Given the description of an element on the screen output the (x, y) to click on. 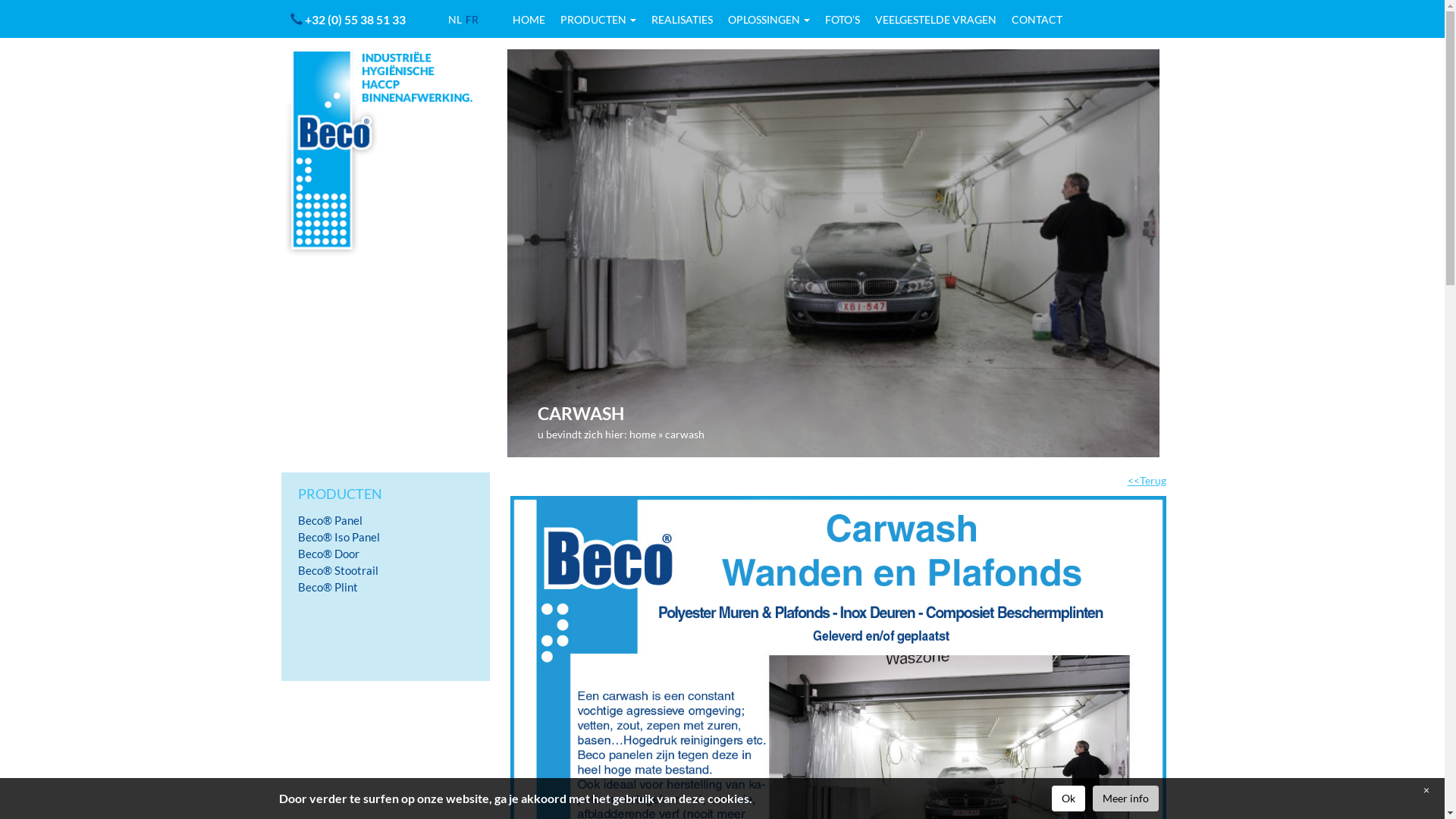
VEELGESTELDE VRAGEN Element type: text (943, 19)
REALISATIES Element type: text (689, 19)
FR Element type: text (471, 18)
OPLOSSINGEN Element type: text (776, 19)
Ok Element type: text (1067, 798)
HOME Element type: text (536, 19)
CONTACT Element type: text (1044, 19)
PRODUCTEN Element type: text (605, 19)
NL Element type: text (454, 18)
<<Terug Element type: text (1145, 479)
home Element type: text (642, 433)
Meer info Element type: text (1124, 798)
